Given the description of an element on the screen output the (x, y) to click on. 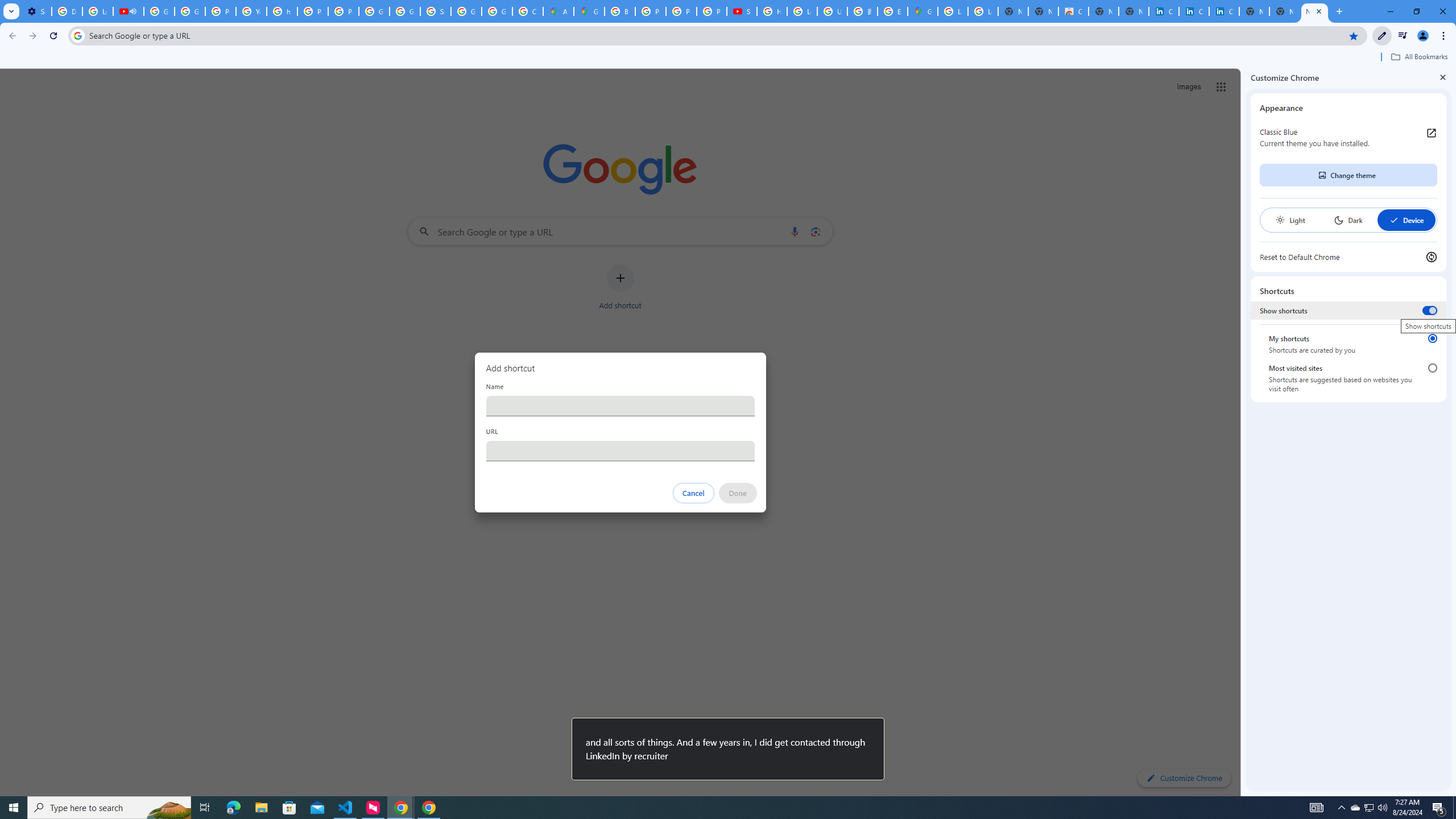
Learn how to find your photos - Google Photos Help (97, 11)
URL (620, 450)
Google Maps (922, 11)
All Bookmarks (1418, 56)
Device (1406, 219)
Cookie Policy | LinkedIn (1163, 11)
Google Account Help (158, 11)
Delete photos & videos - Computer - Google Photos Help (66, 11)
Reset to Default Chrome (1347, 256)
Explore new street-level details - Google Maps Help (892, 11)
